Given the description of an element on the screen output the (x, y) to click on. 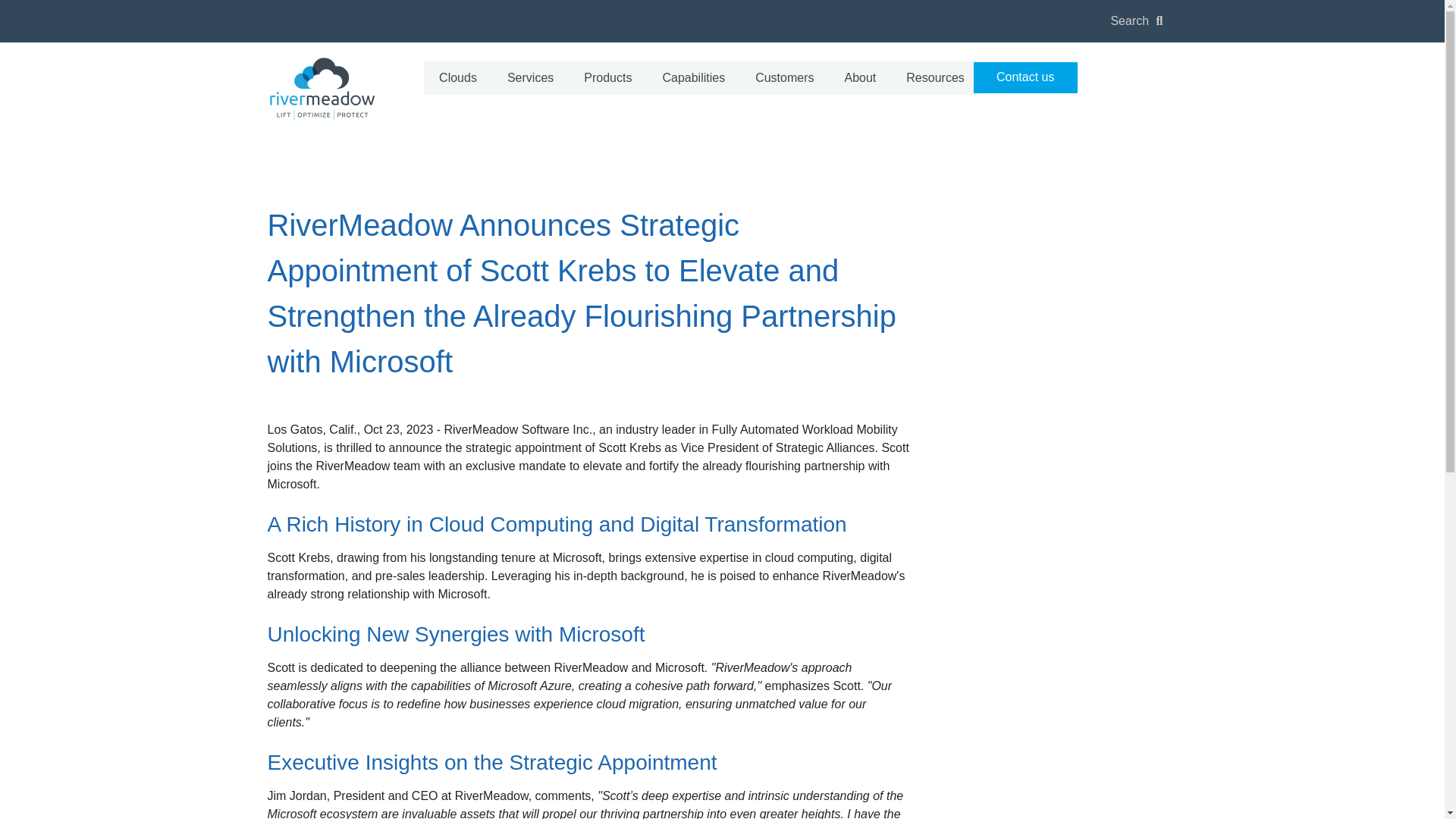
Services (530, 78)
RM logo 2022 140px-01 (320, 89)
Products (607, 78)
Clouds (457, 78)
Search (1128, 20)
